Given the description of an element on the screen output the (x, y) to click on. 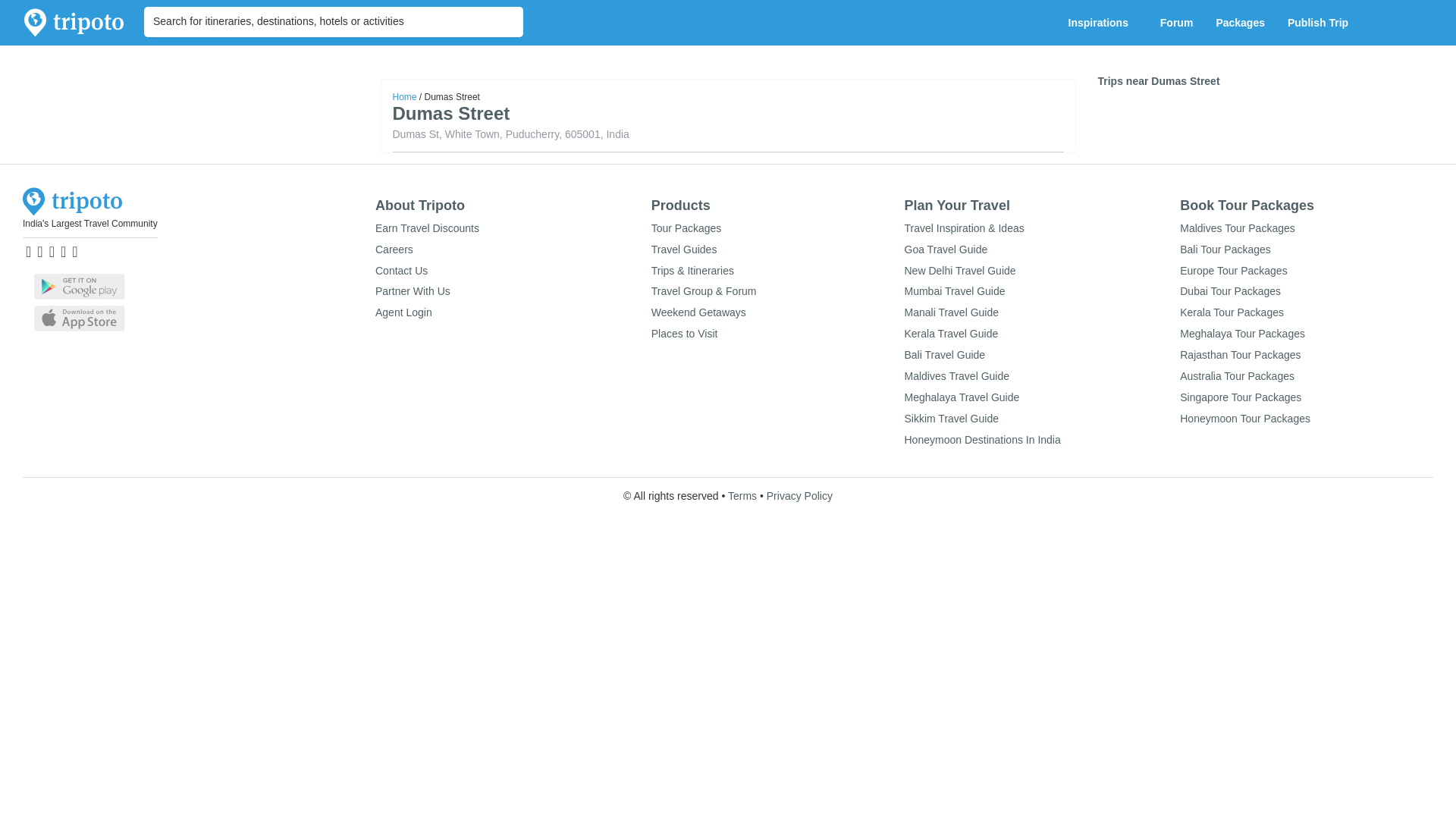
Travel Guides (683, 249)
Careers (394, 249)
Forum (1176, 22)
Agent Login (403, 312)
India's Largest Travel Community (90, 223)
Tour Packages (686, 227)
Packages (1240, 22)
Packages (1240, 22)
Tripoto: India's Largest Community of Travellers (73, 22)
Home (404, 96)
